Given the description of an element on the screen output the (x, y) to click on. 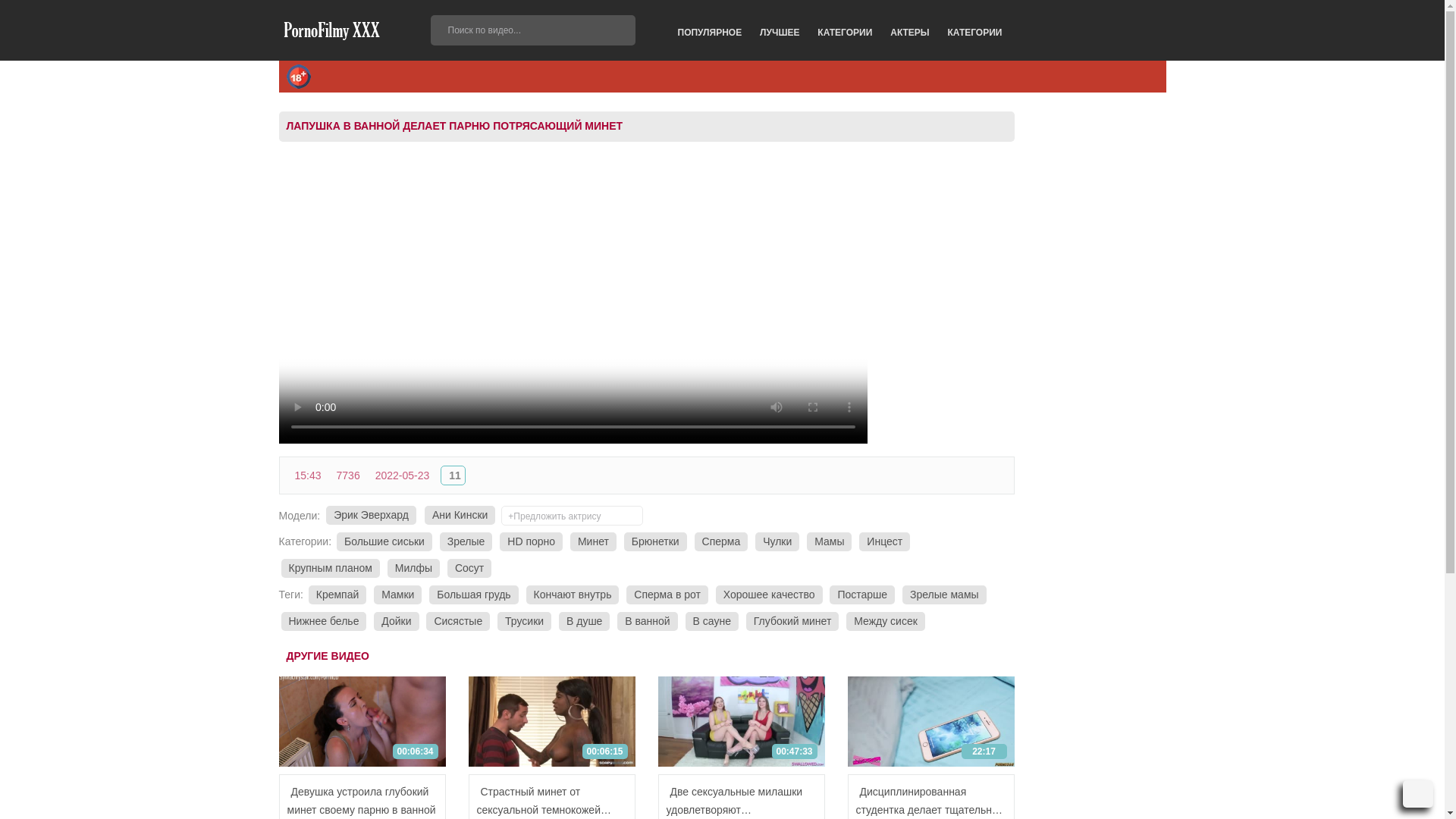
GO Element type: text (619, 29)
